Given the description of an element on the screen output the (x, y) to click on. 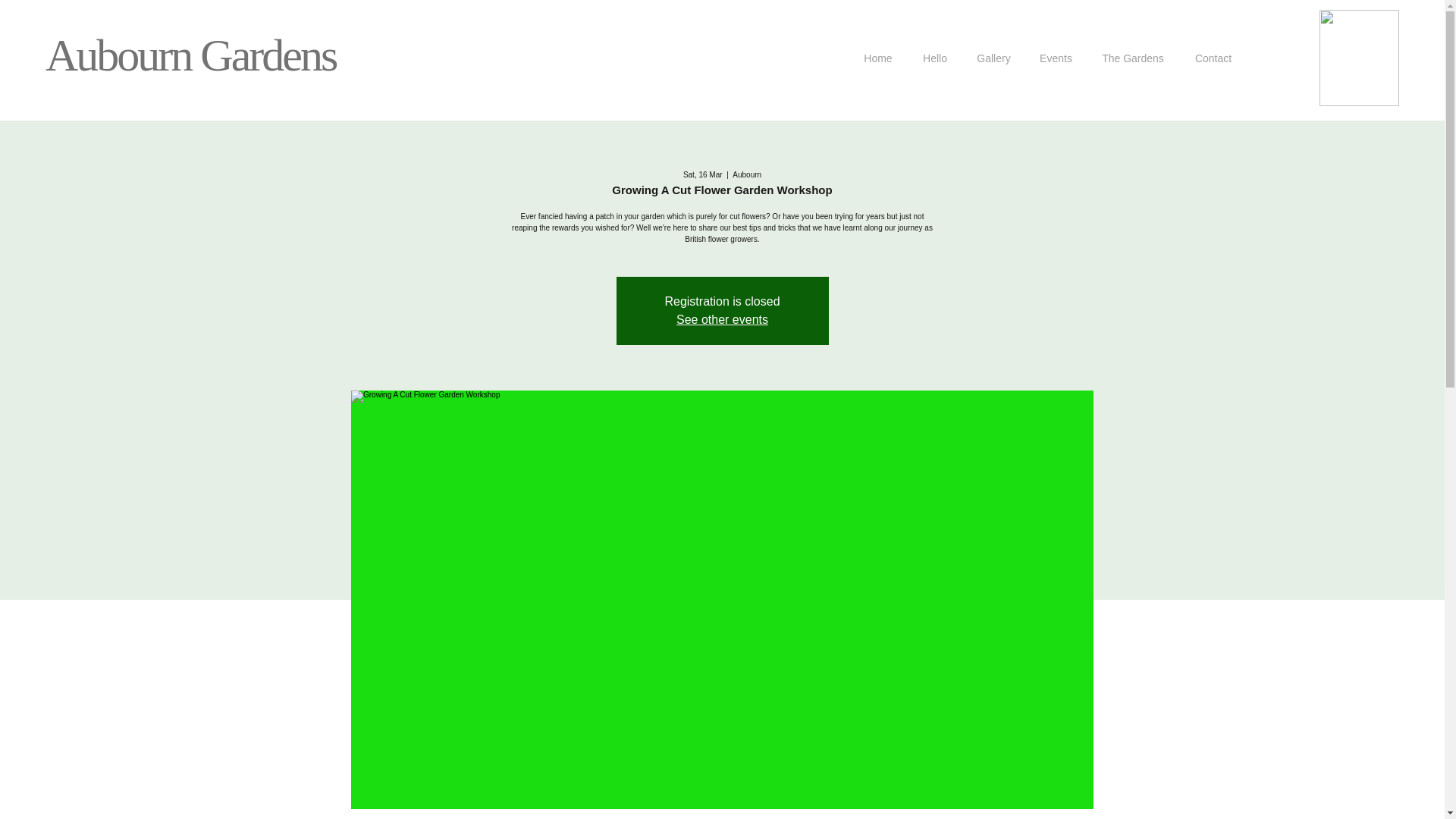
The Gardens (1132, 58)
Events (1055, 58)
Home (877, 58)
Contact (1213, 58)
See other events (722, 318)
Gallery (993, 58)
Hello (934, 58)
